Given the description of an element on the screen output the (x, y) to click on. 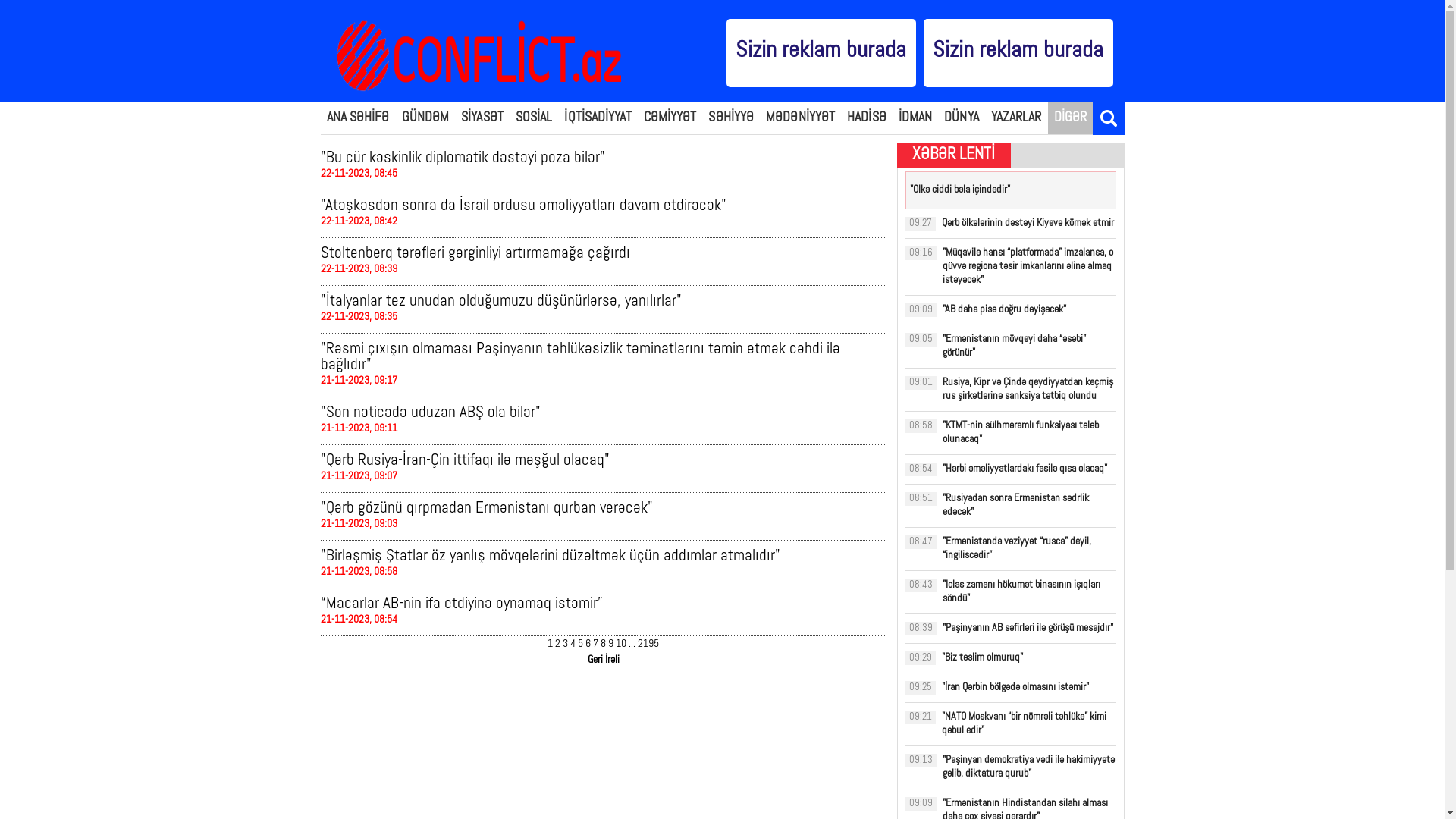
9 Element type: text (610, 643)
8 Element type: text (602, 643)
10 Element type: text (620, 643)
5 Element type: text (580, 643)
3 Element type: text (564, 643)
1 Element type: text (549, 643)
2195 Element type: text (647, 643)
7 Element type: text (595, 643)
Geri Element type: text (594, 659)
YAZARLAR Element type: text (1016, 118)
2 Element type: text (557, 643)
6 Element type: text (587, 643)
